Given the description of an element on the screen output the (x, y) to click on. 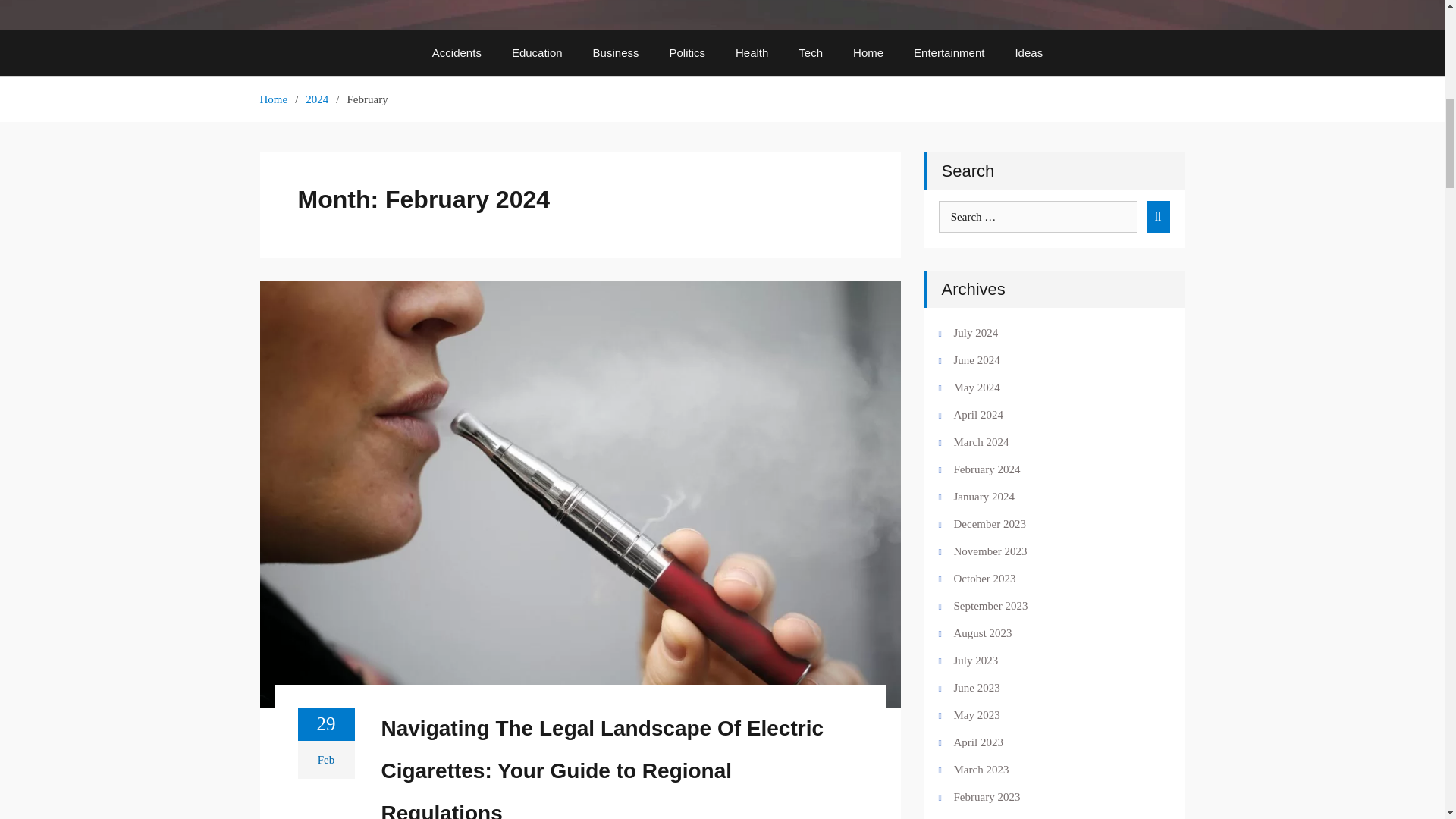
October 2023 (1045, 578)
Accidents (456, 53)
September 2023 (1045, 605)
December 2023 (1045, 523)
November 2023 (1045, 550)
Politics (686, 53)
Entertainment (948, 53)
February 2024 (1045, 468)
May 2024 (1045, 386)
January 2024 (1045, 496)
Tech (810, 53)
April 2024 (1045, 414)
Business (615, 53)
Education (537, 53)
